Given the description of an element on the screen output the (x, y) to click on. 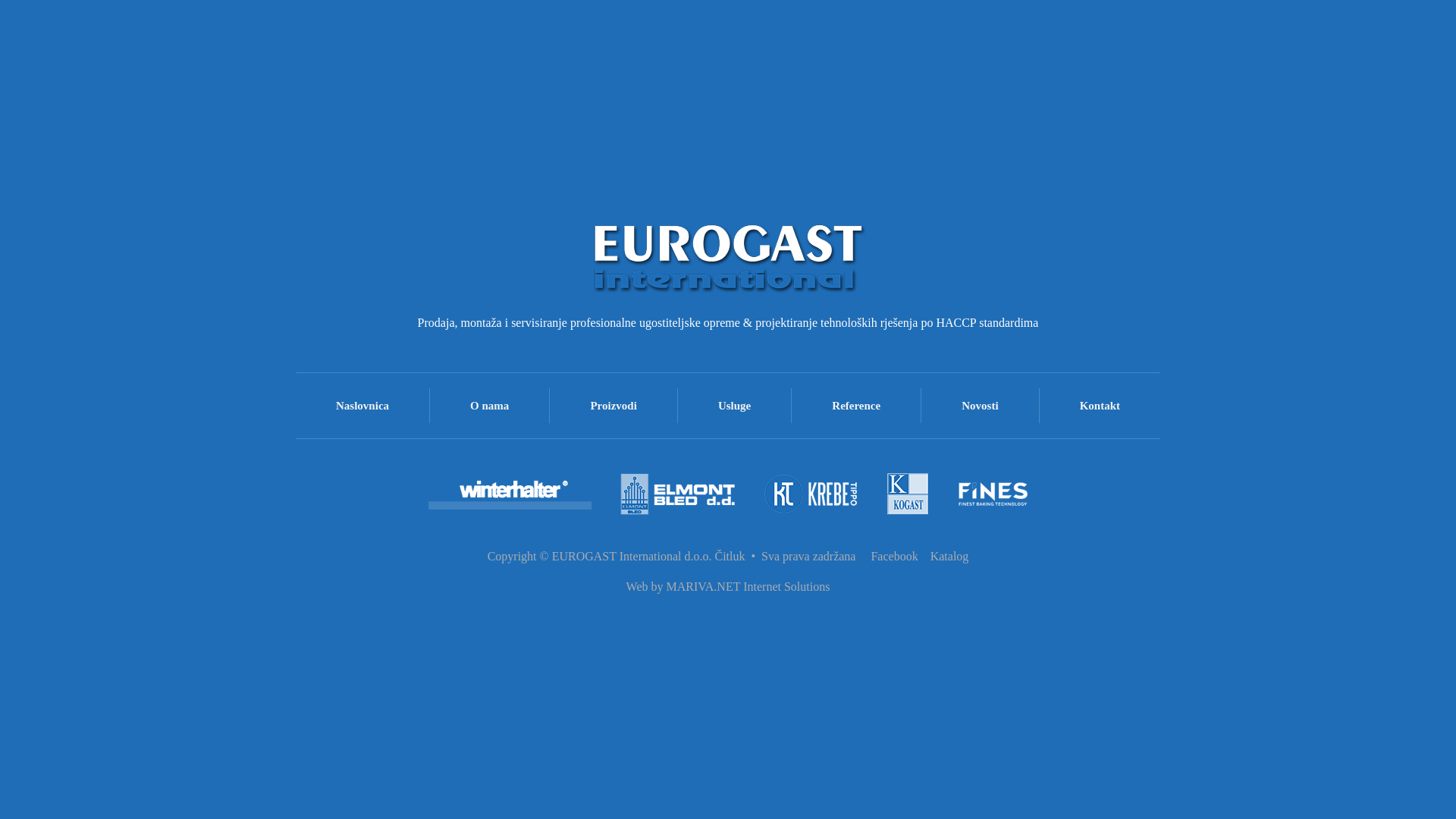
Facebook Element type: text (893, 555)
Katalog Element type: text (949, 555)
Proizvodi Element type: text (612, 405)
Naslovnica Element type: text (362, 405)
Reference Element type: text (855, 405)
Kontakt Element type: text (1099, 405)
MARIVA.NET Internet Solutions Element type: text (748, 586)
Novosti Element type: text (979, 405)
Usluge Element type: text (733, 405)
O nama Element type: text (489, 405)
